Given the description of an element on the screen output the (x, y) to click on. 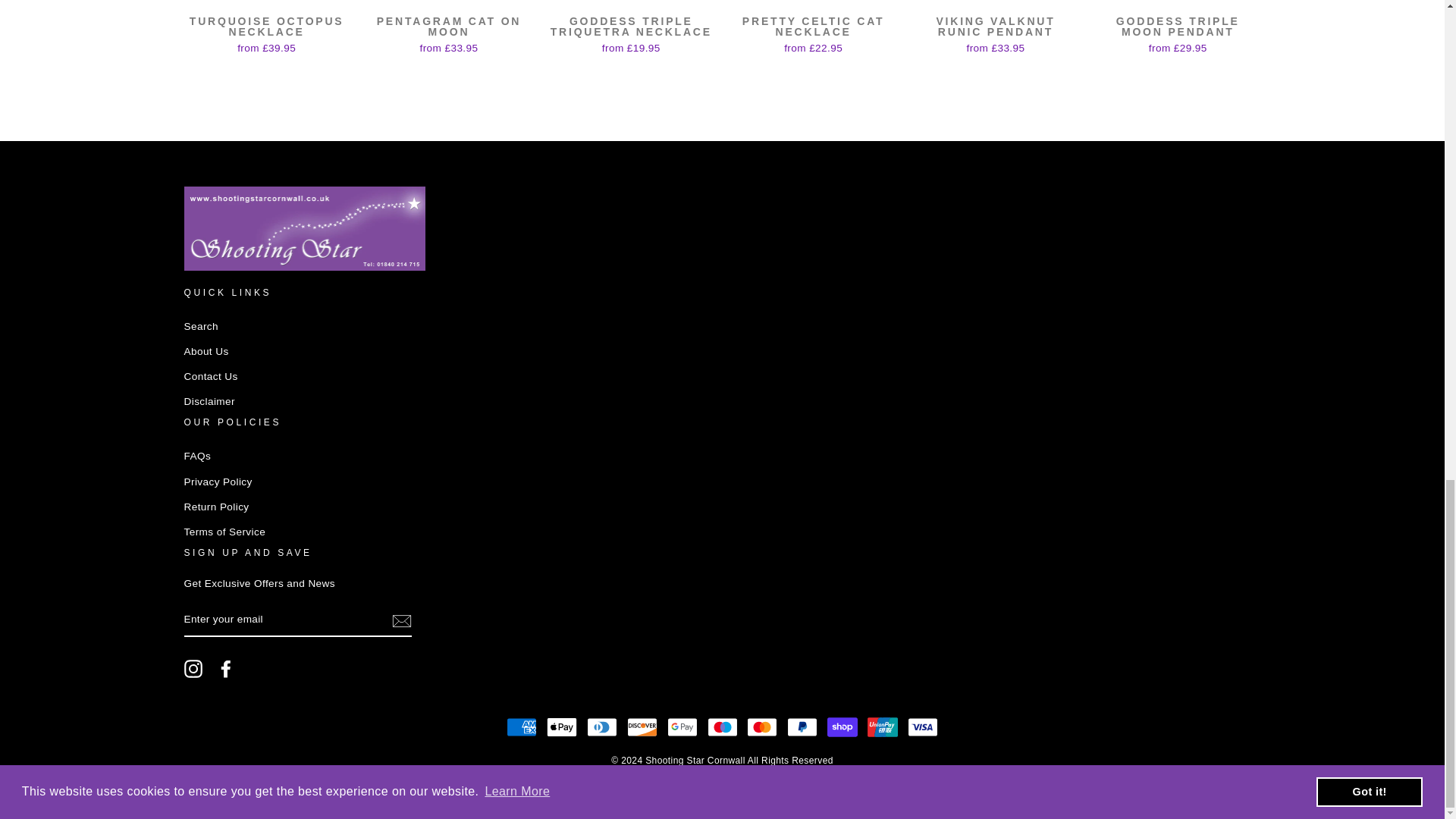
Shooting Star Cornwall on Instagram (192, 669)
Diners Club (601, 726)
Shooting Star Cornwall on Facebook (225, 669)
Google Pay (681, 726)
Apple Pay (561, 726)
American Express (521, 726)
Maestro (721, 726)
Discover (642, 726)
